Given the description of an element on the screen output the (x, y) to click on. 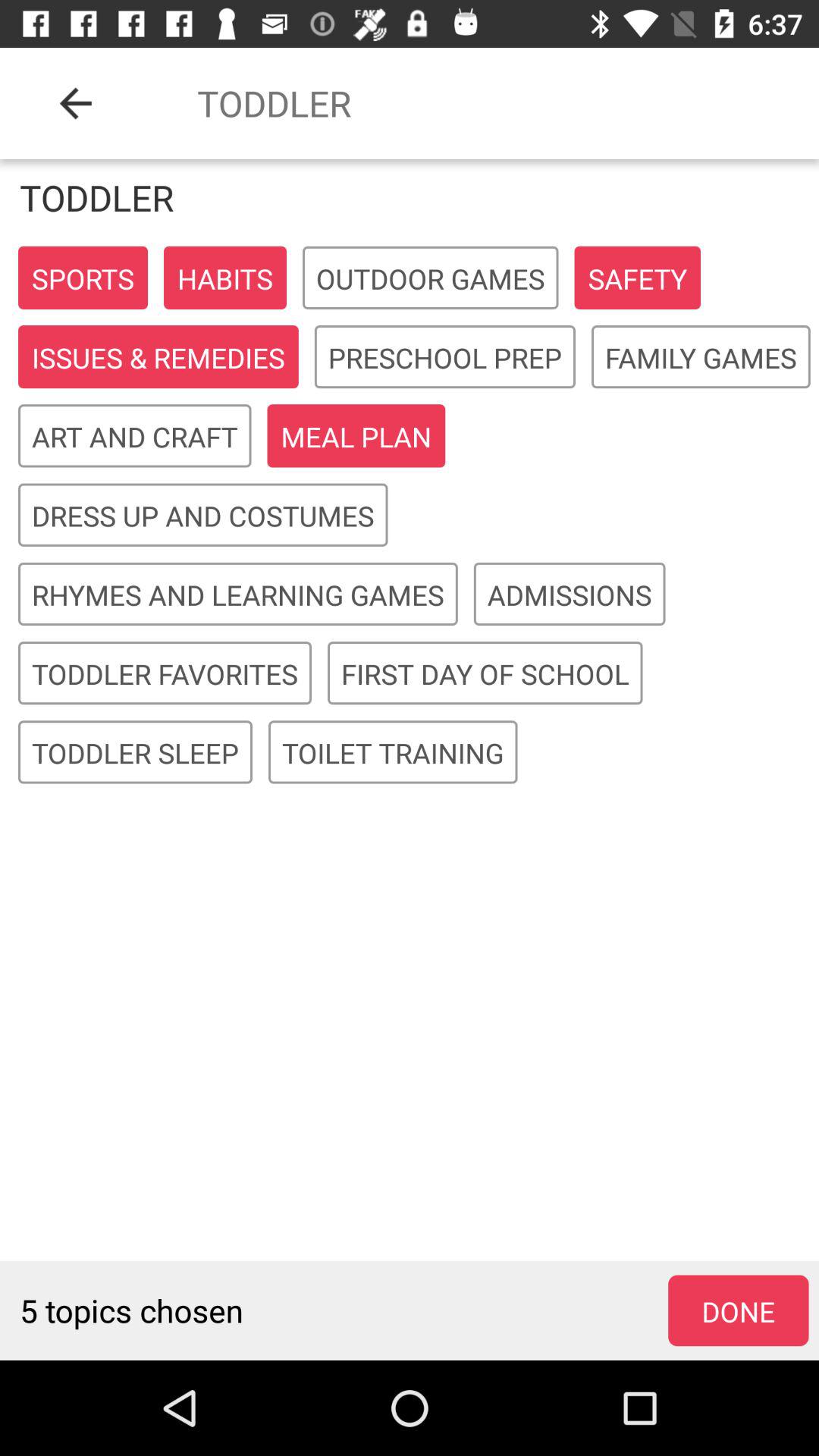
scroll until the rhymes and learning (237, 594)
